Given the description of an element on the screen output the (x, y) to click on. 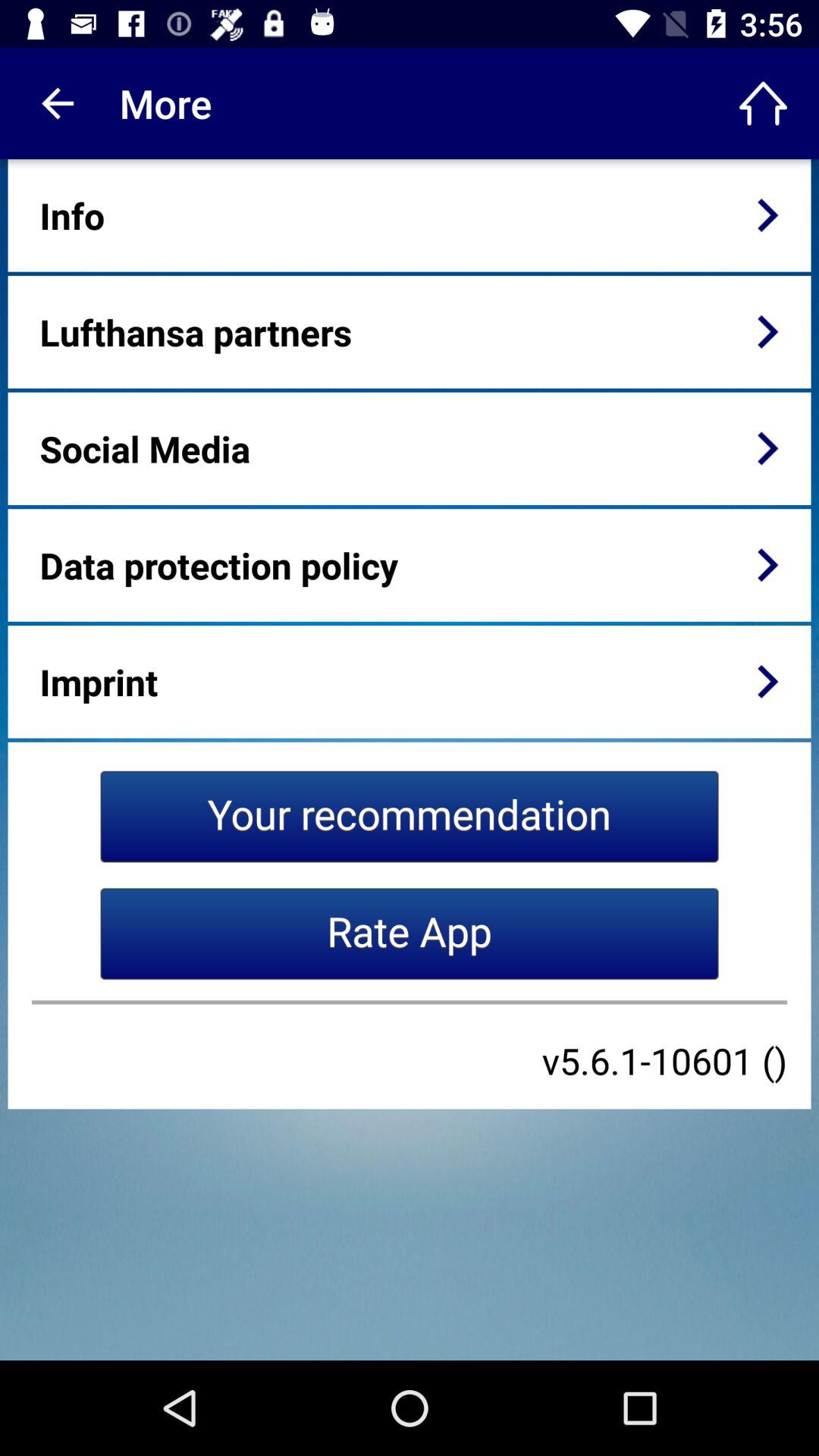
select the item to the left of the more icon (55, 103)
